Given the description of an element on the screen output the (x, y) to click on. 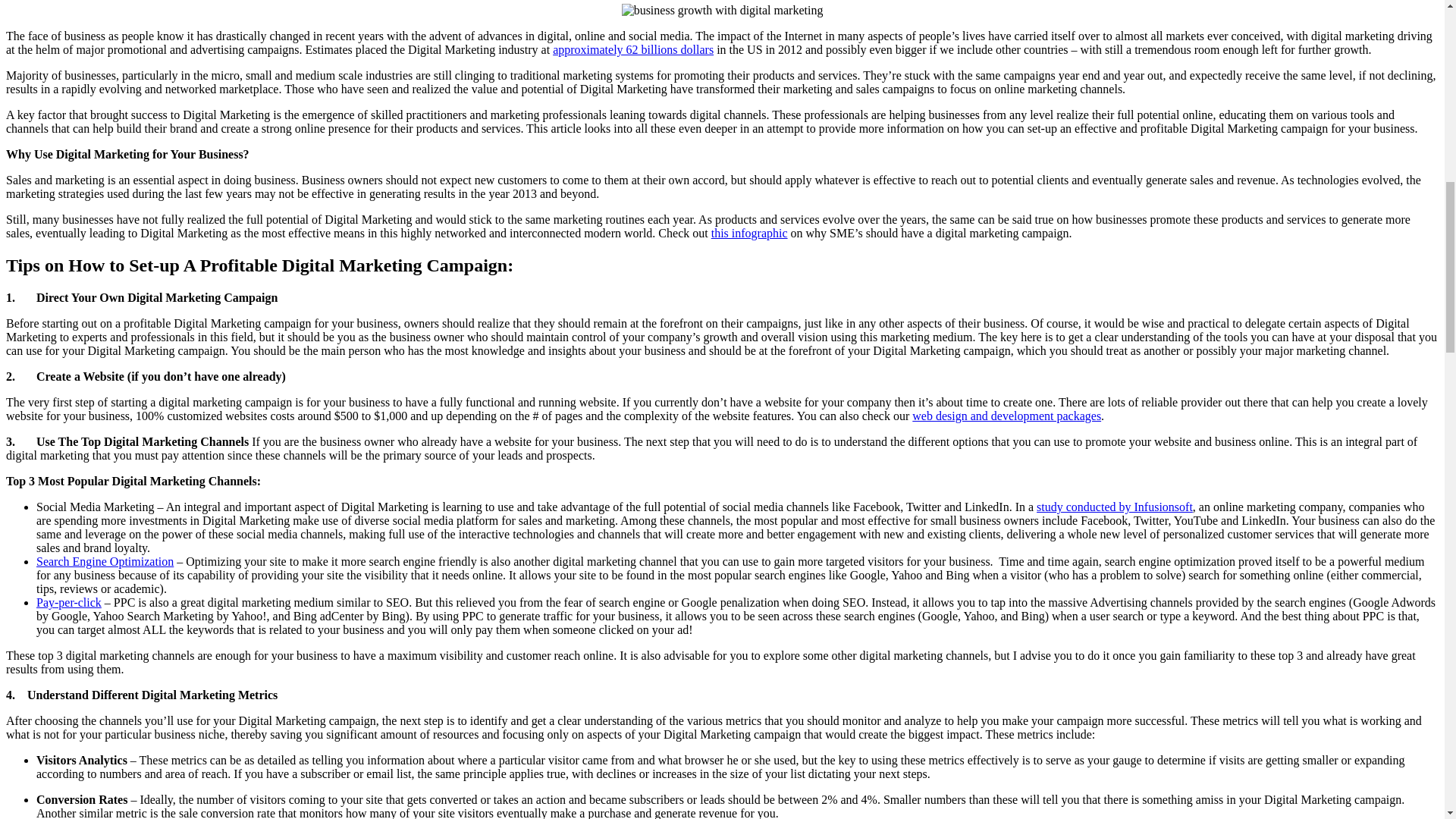
approximately 62 billions dollars (633, 49)
study conducted by Infusionsoft (1114, 506)
web design and development packages (1006, 415)
Search Engine Optimization (104, 561)
this infographic (749, 232)
Pay-per-click (68, 602)
